Given the description of an element on the screen output the (x, y) to click on. 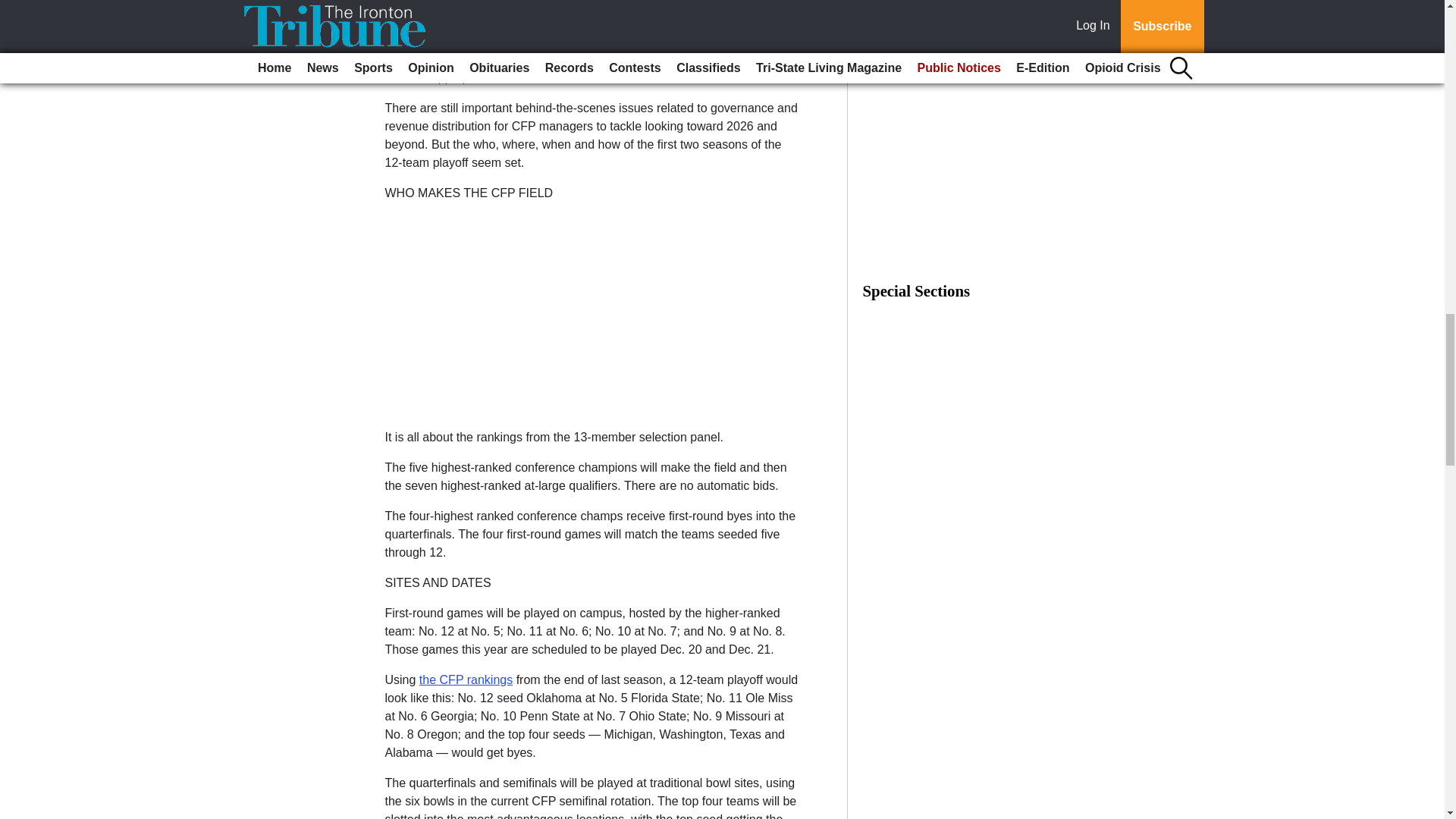
the CFP rankings (465, 679)
Considering the fits and starts (465, 41)
